Given the description of an element on the screen output the (x, y) to click on. 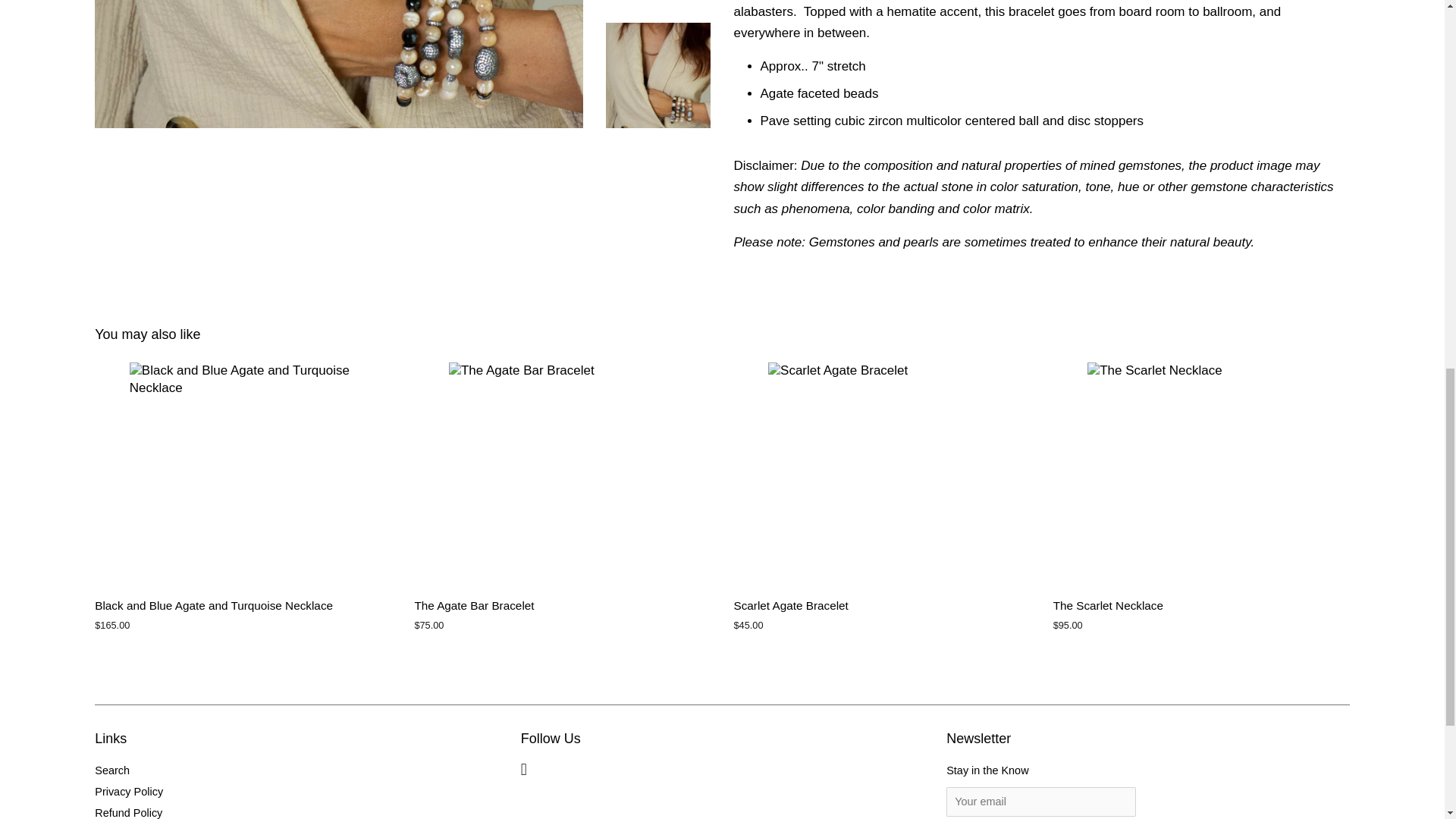
Privacy Policy (128, 791)
Search (111, 770)
